Given the description of an element on the screen output the (x, y) to click on. 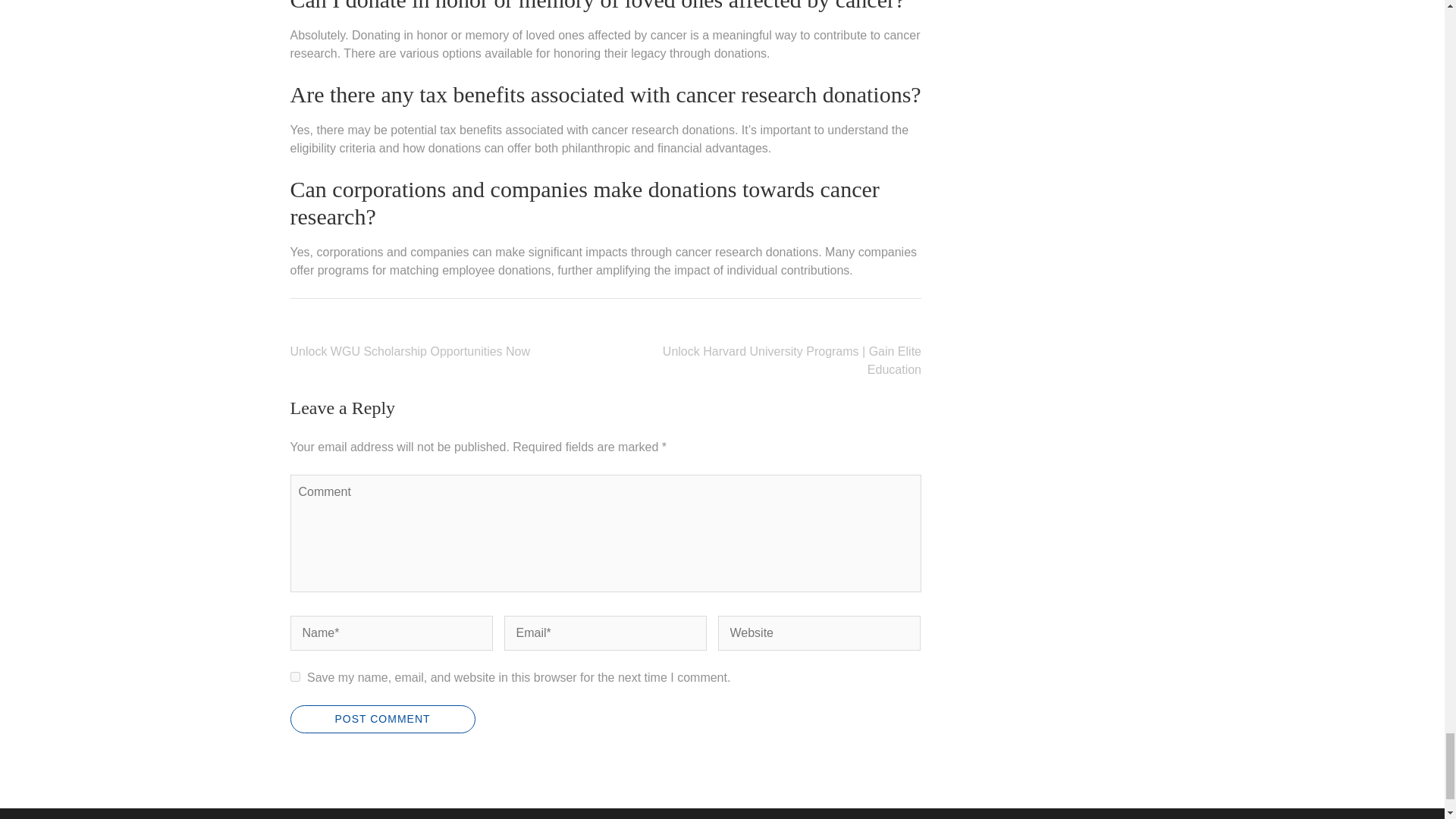
Post Comment (381, 719)
Unlock WGU Scholarship Opportunities Now (409, 350)
yes (294, 676)
Post Comment (381, 719)
